Given the description of an element on the screen output the (x, y) to click on. 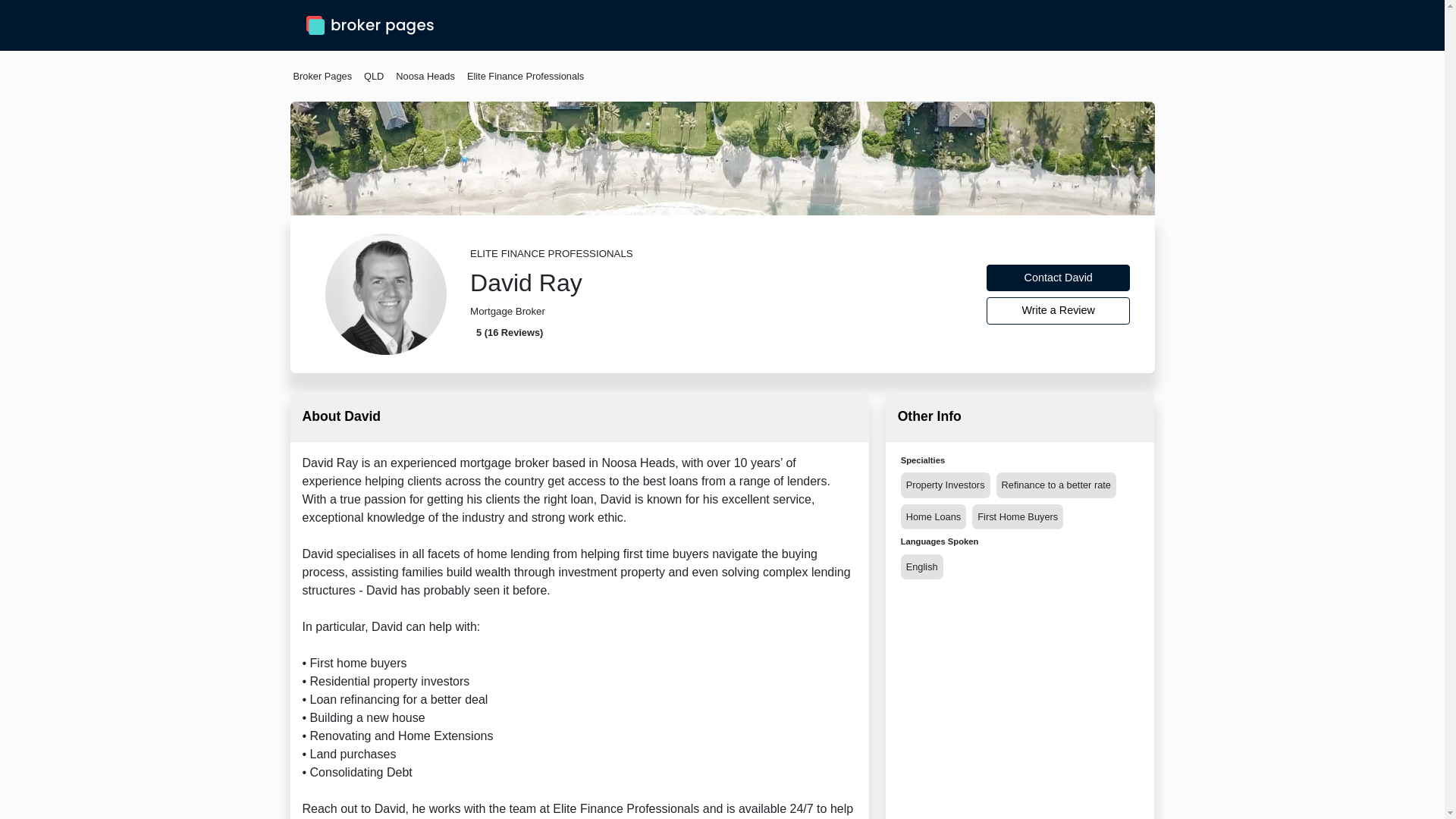
Noosa Heads (425, 75)
Broker Pages (322, 75)
Contact David (1059, 277)
Write a Review (1059, 310)
